Given the description of an element on the screen output the (x, y) to click on. 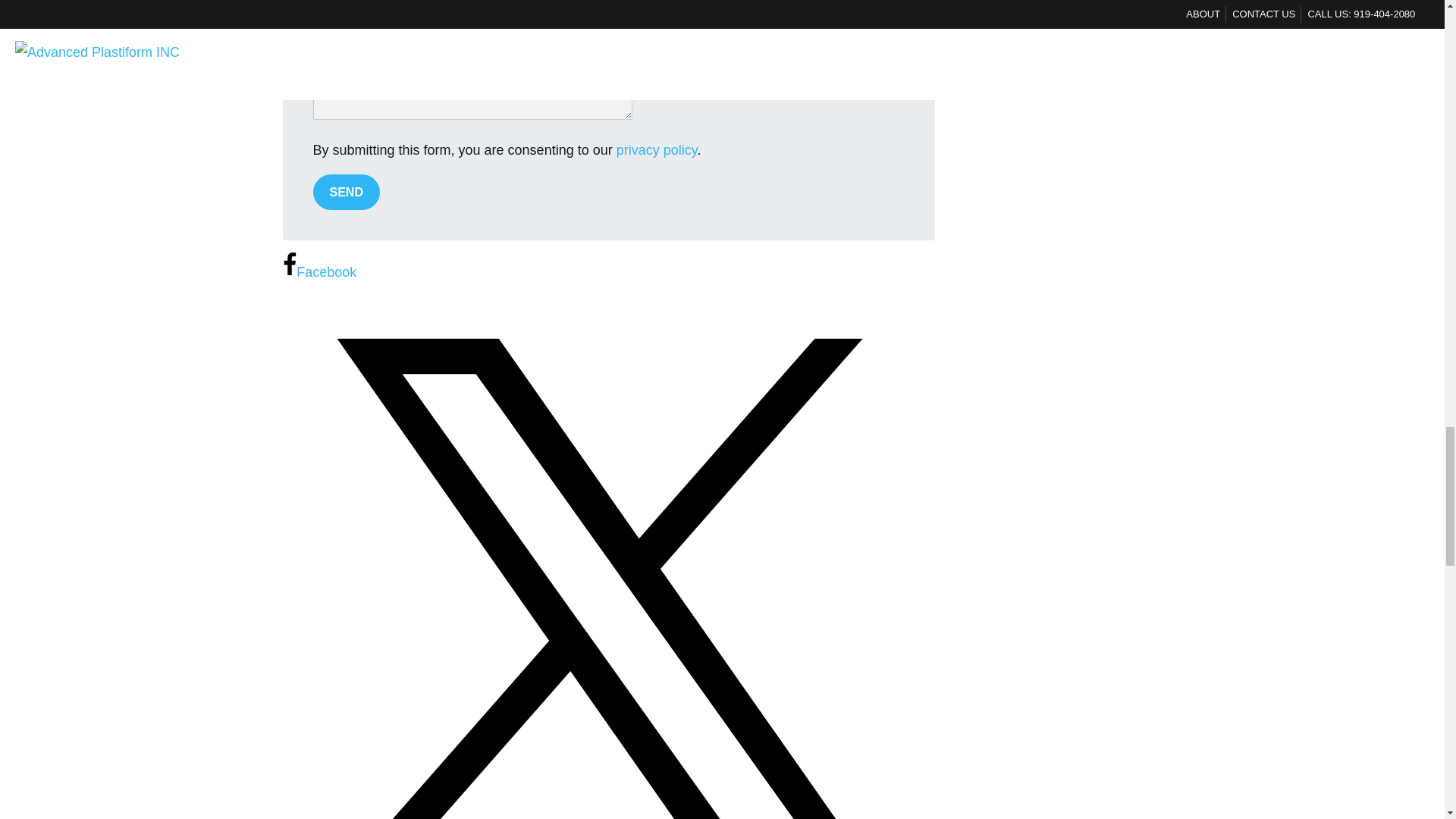
Submit Form (345, 191)
Share on Facebook (319, 272)
